Given the description of an element on the screen output the (x, y) to click on. 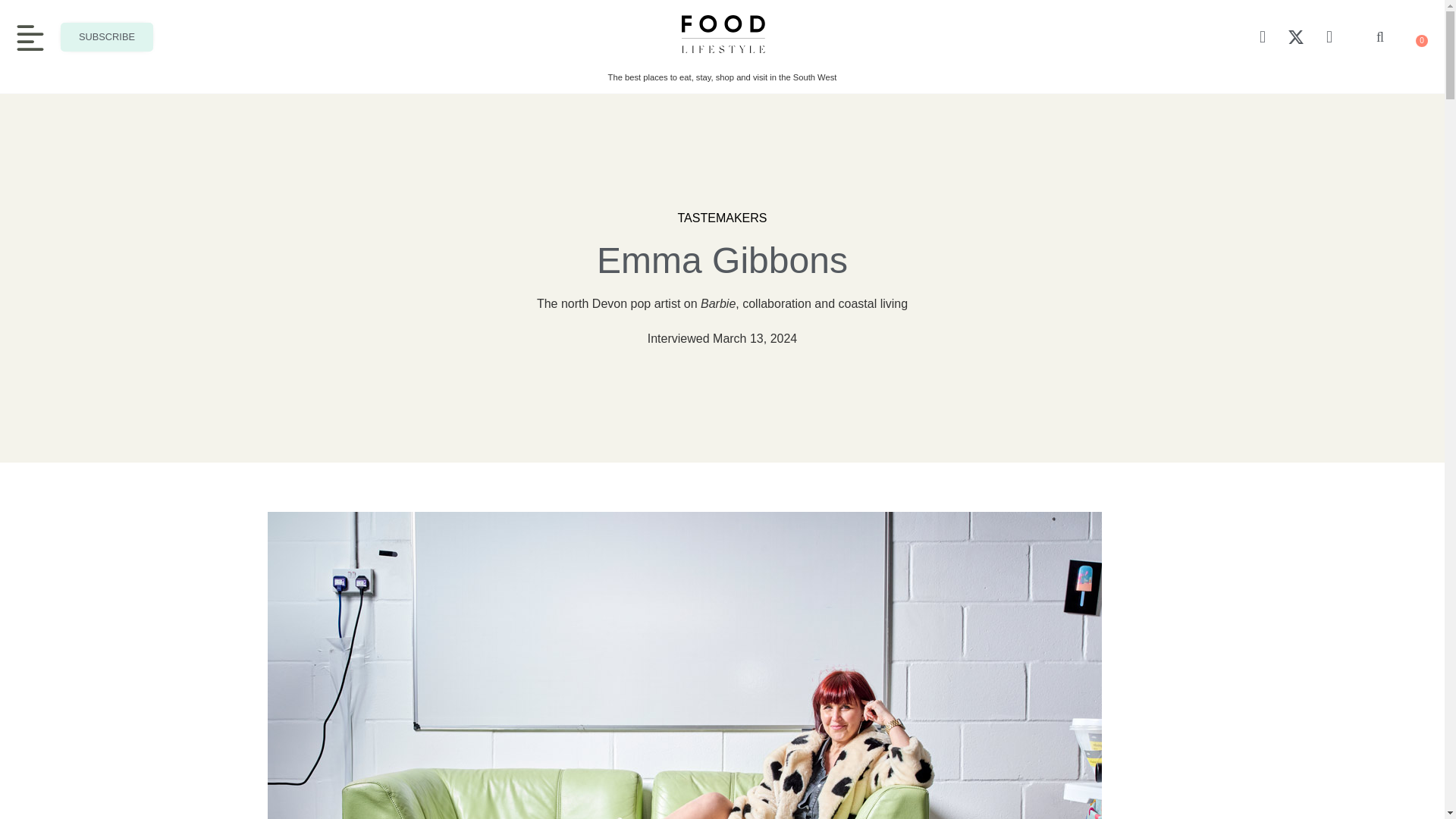
SUBSCRIBE (106, 36)
TASTEMAKERS (722, 218)
